Given the description of an element on the screen output the (x, y) to click on. 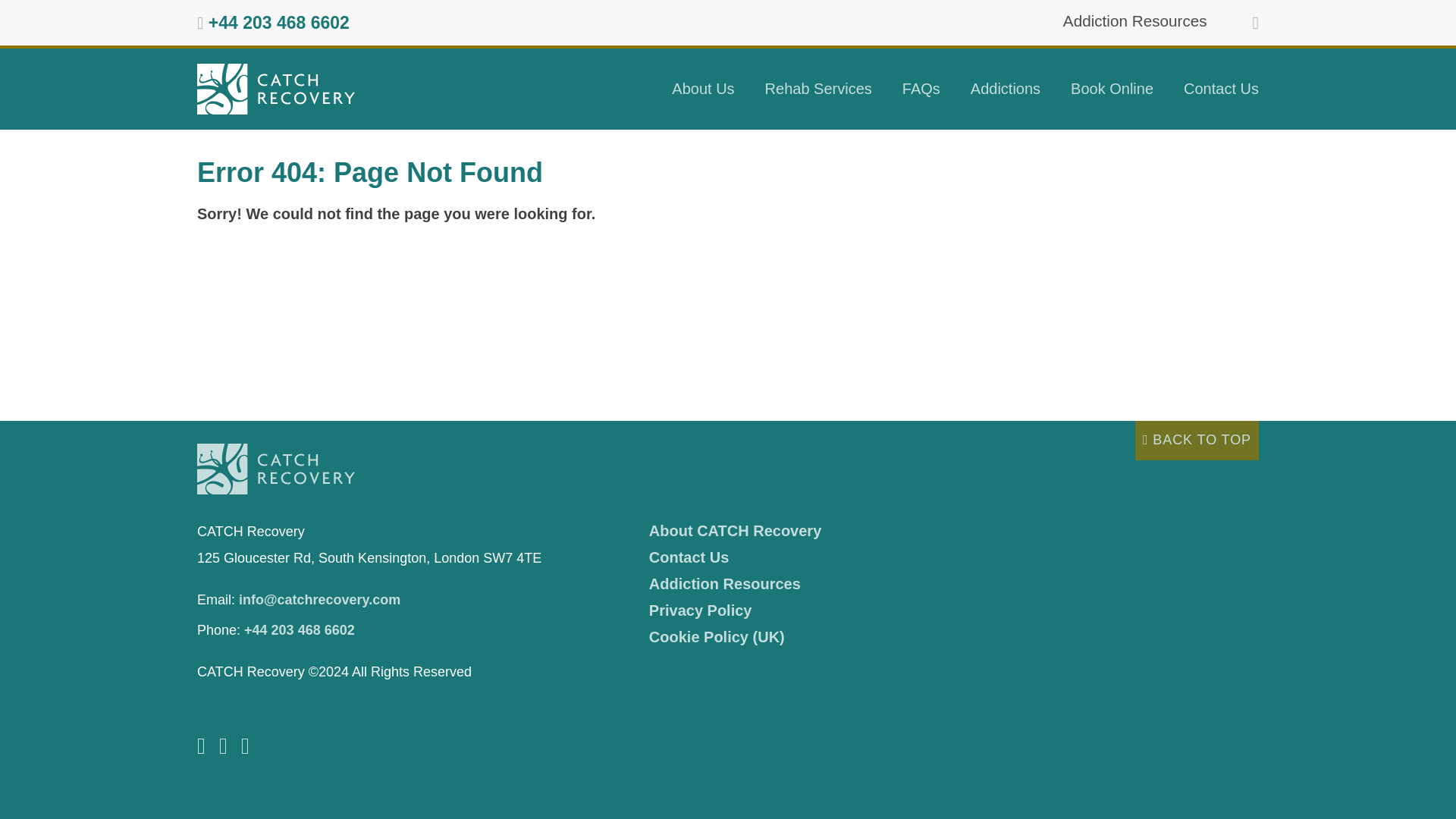
Addictions (1005, 88)
Rehab Services (817, 88)
Addiction Resources (1134, 20)
CATCH Recovery (275, 88)
About Us (702, 88)
Call CATCH Recovery (278, 22)
Book Online (1112, 88)
Call CATCH Recovery (299, 629)
